Given the description of an element on the screen output the (x, y) to click on. 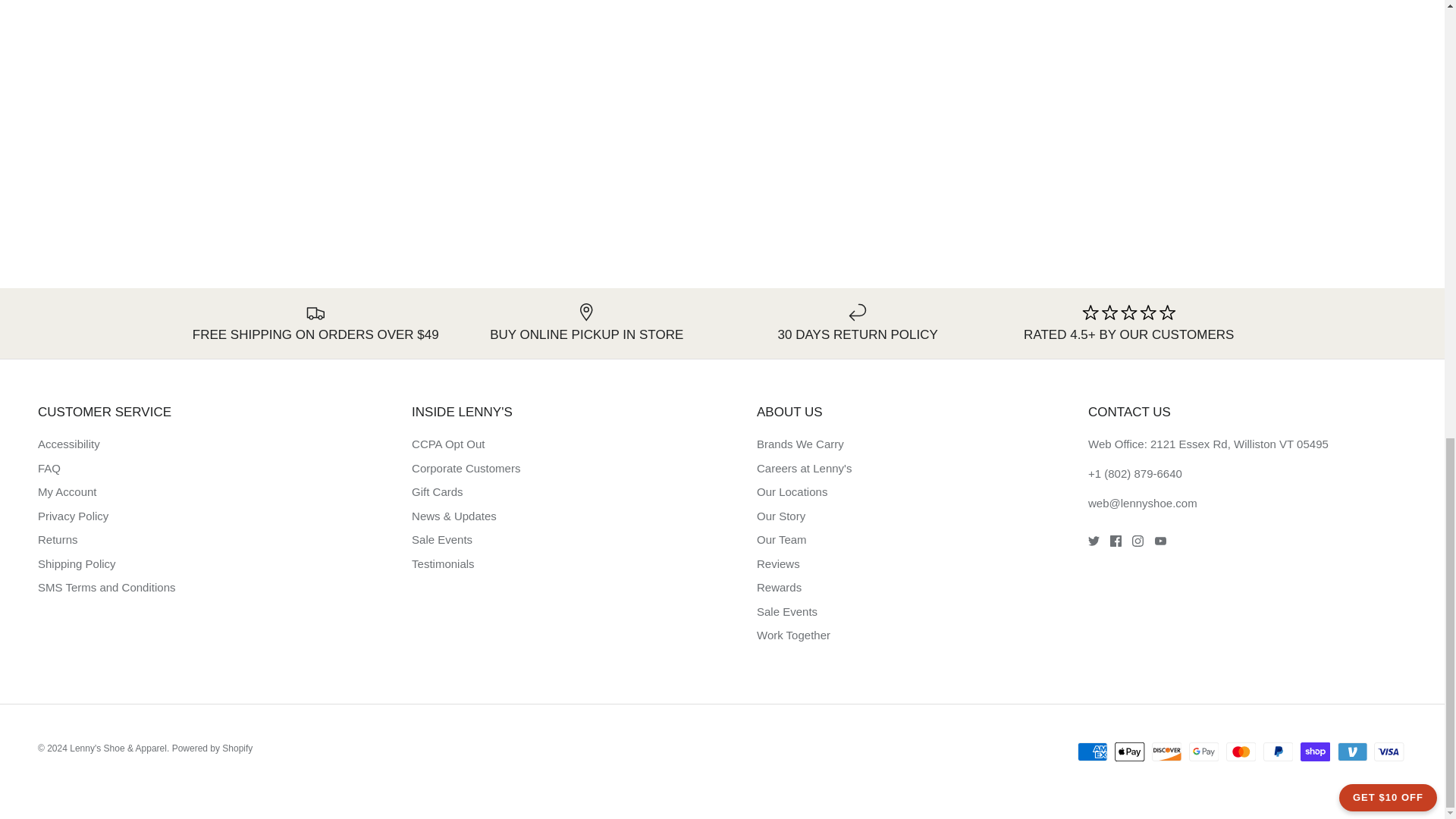
Google Pay (1203, 751)
Instagram (1137, 541)
Discover (1166, 751)
American Express (1092, 751)
Venmo (1352, 751)
Youtube (1160, 541)
PayPal (1277, 751)
Mastercard (1240, 751)
Twitter (1093, 541)
Facebook (1115, 541)
